Given the description of an element on the screen output the (x, y) to click on. 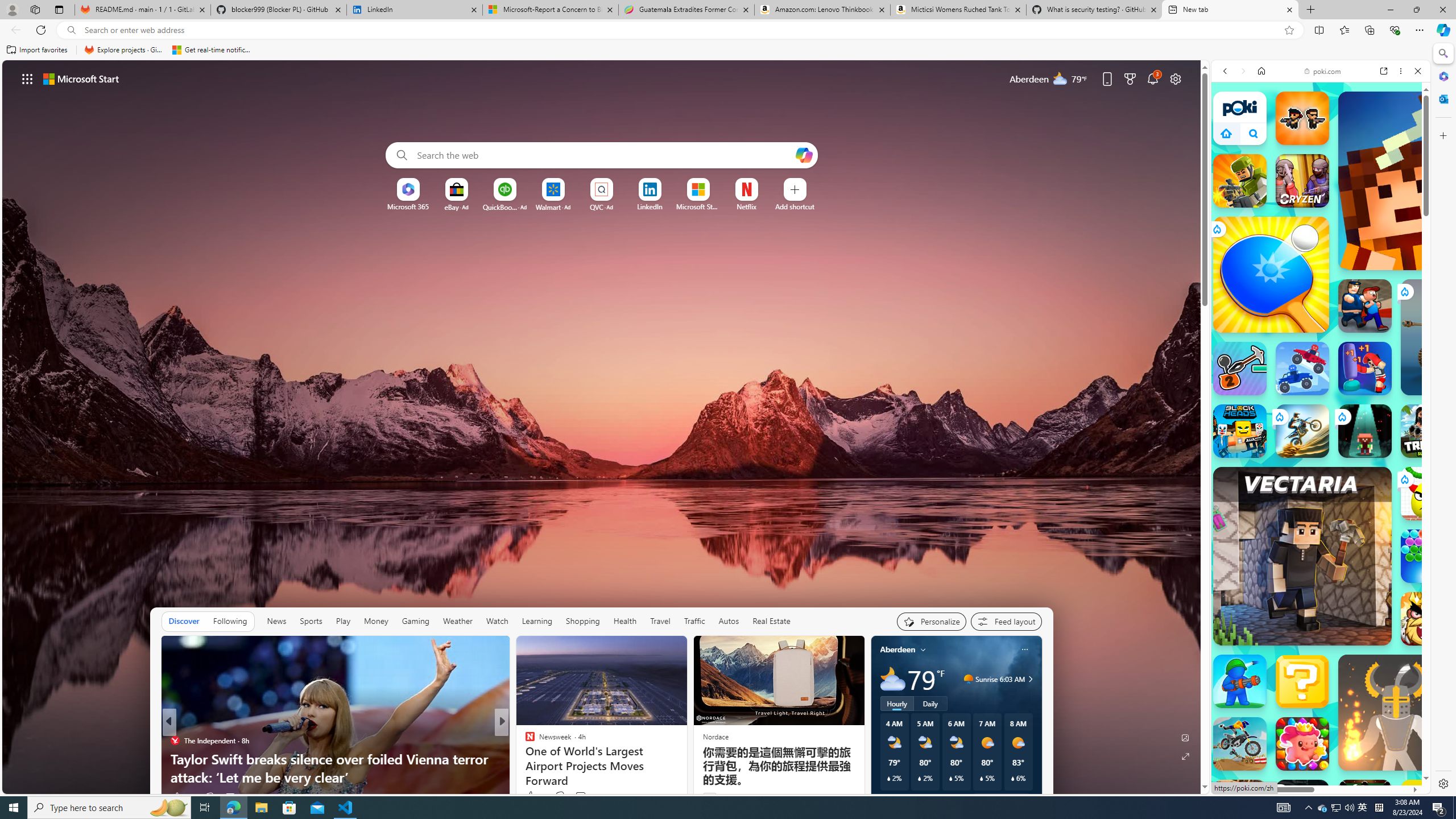
View comments 20 Comment (576, 797)
Mystery Tile (1302, 681)
793 Like (532, 796)
Expand background (1185, 756)
5 Like (529, 796)
